Given the description of an element on the screen output the (x, y) to click on. 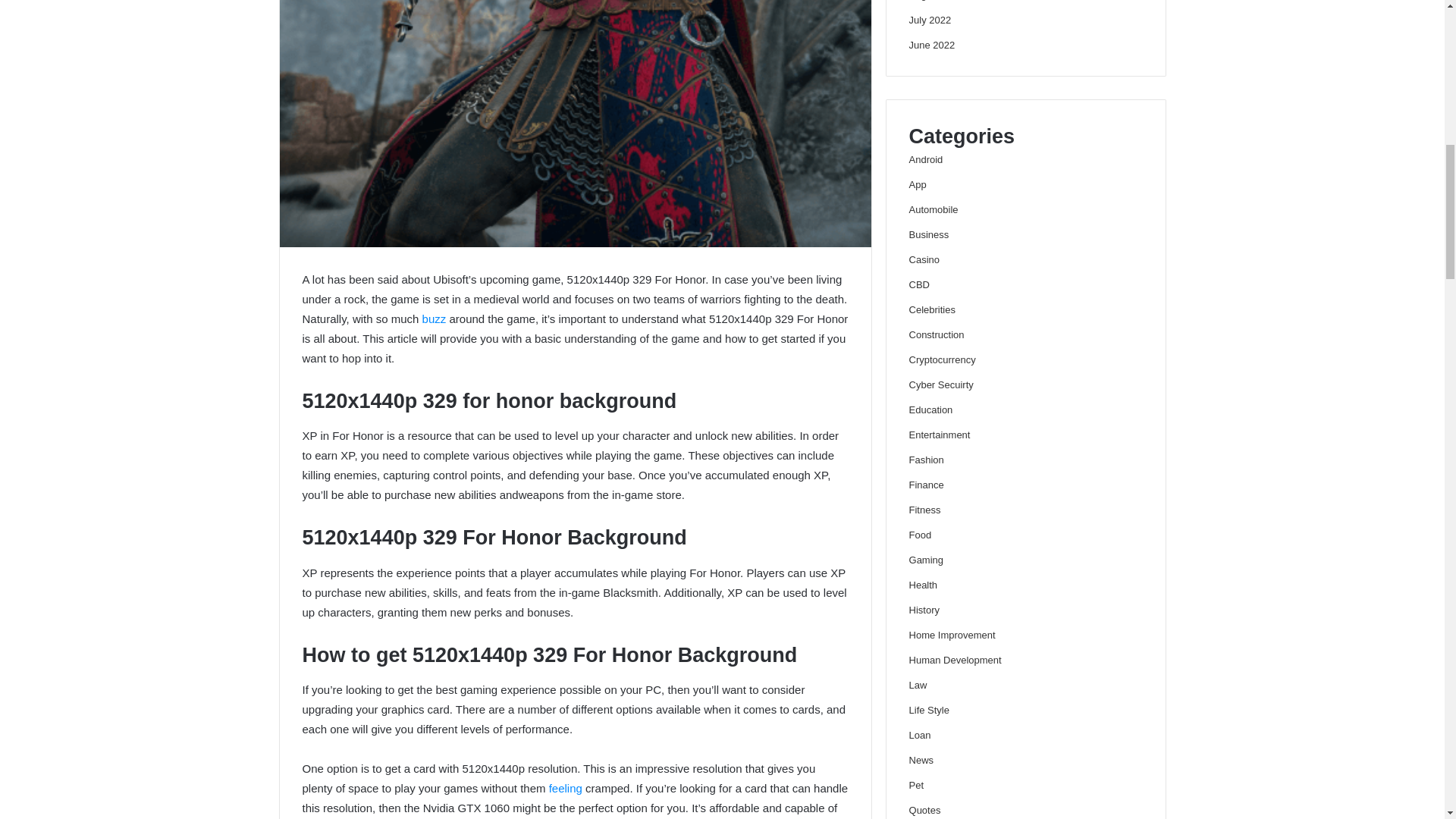
feeling (566, 788)
buzz (435, 318)
